Given the description of an element on the screen output the (x, y) to click on. 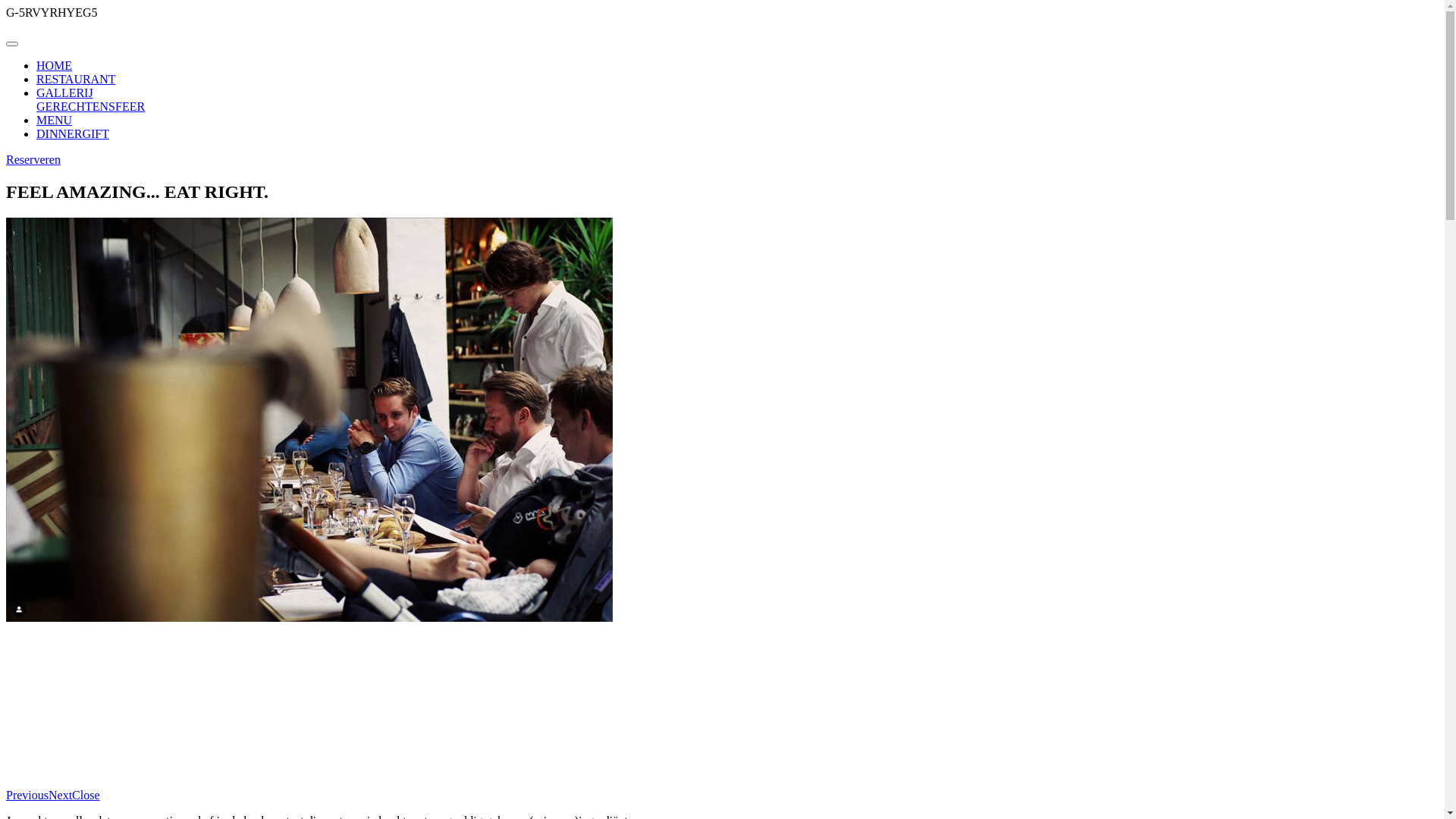
Close Element type: text (85, 794)
HOME Element type: text (54, 65)
SFEER Element type: text (126, 106)
Reserveren Element type: text (33, 159)
GALLERIJ Element type: text (64, 92)
DINNERGIFT Element type: text (72, 133)
Previous Element type: text (27, 794)
RESTAURANT Element type: text (76, 78)
GERECHTEN Element type: text (72, 106)
Next Element type: text (60, 794)
MENU Element type: text (54, 119)
